Given the description of an element on the screen output the (x, y) to click on. 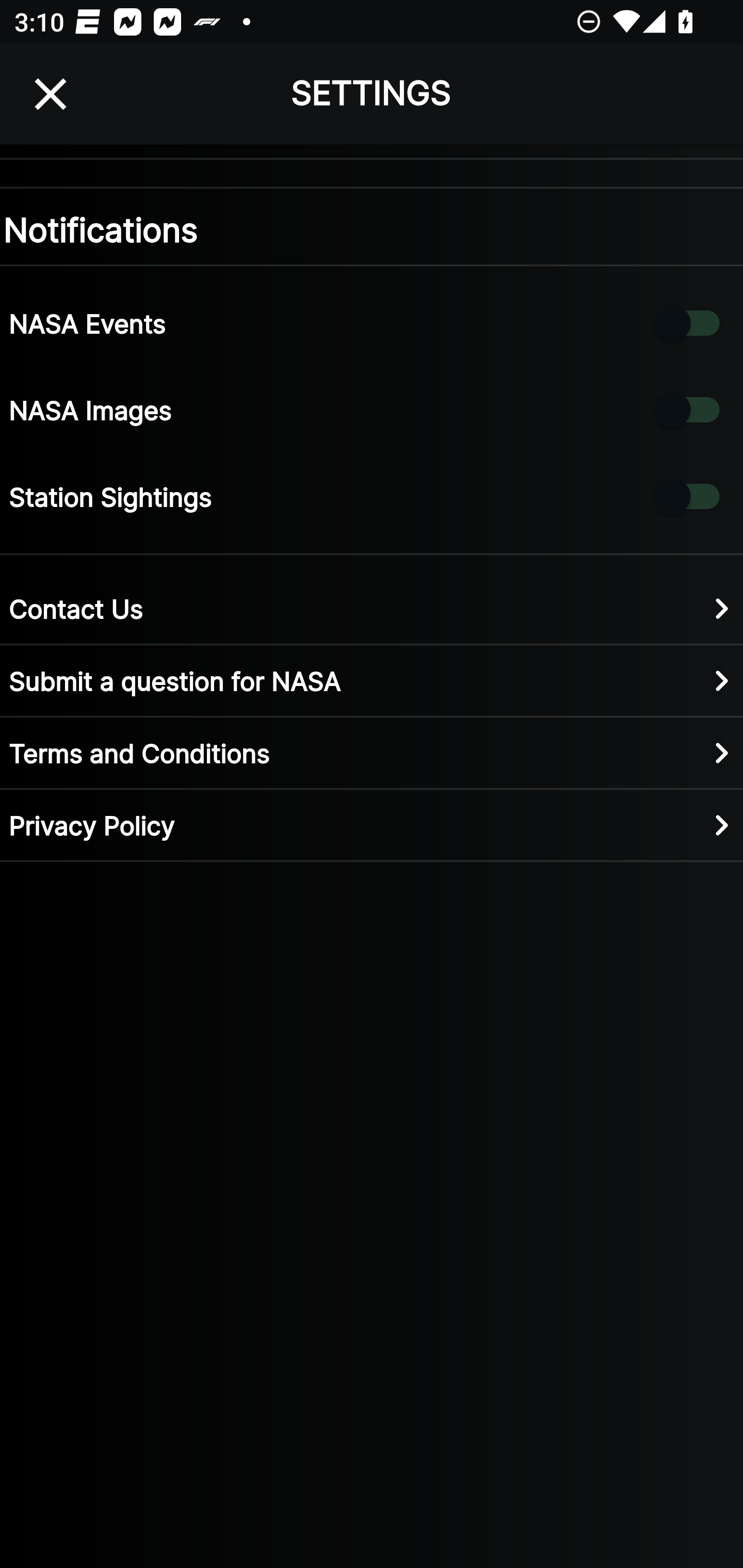
Contact Us (371, 608)
Submit a question for NASA (371, 680)
Terms and Conditions (371, 752)
Privacy Policy (371, 824)
